Given the description of an element on the screen output the (x, y) to click on. 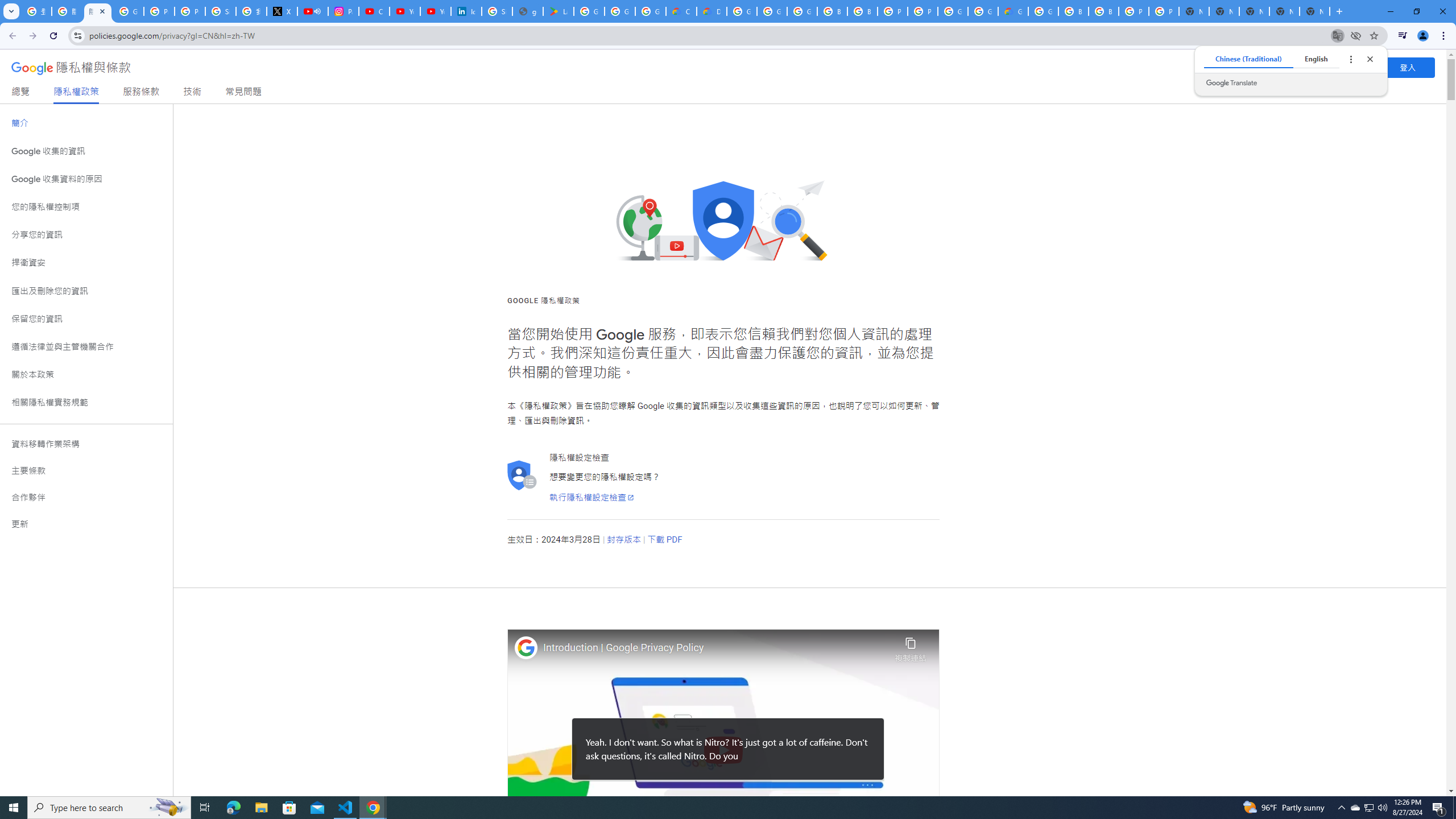
Control your music, videos, and more (1402, 35)
Browse Chrome as a guest - Computer - Google Chrome Help (862, 11)
Sign in - Google Accounts (496, 11)
Google Cloud Platform (952, 11)
Identity verification via Persona | LinkedIn Help (465, 11)
Customer Care | Google Cloud (681, 11)
